Given the description of an element on the screen output the (x, y) to click on. 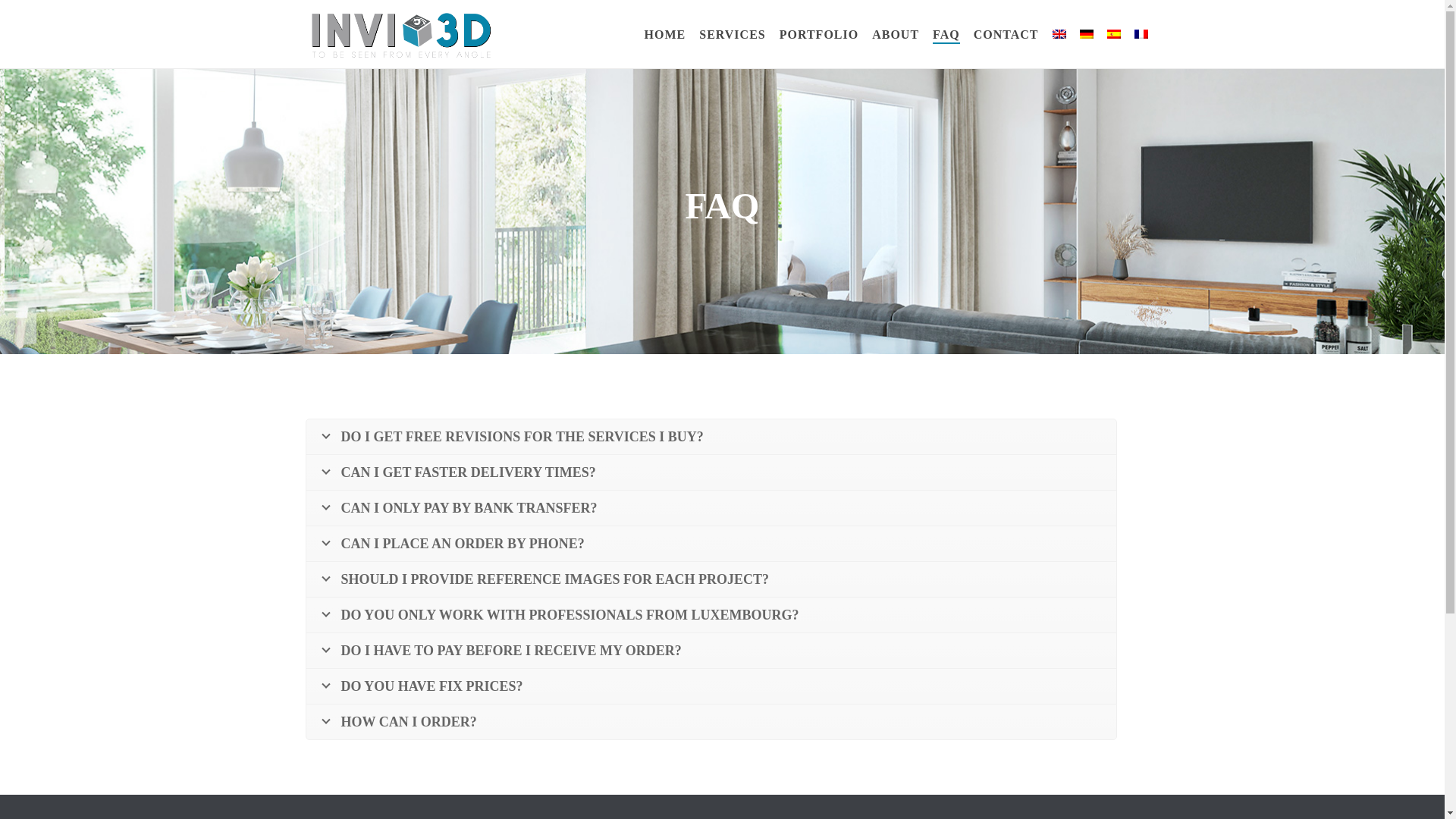
Architectural Digital Solutions (399, 34)
HOME (665, 34)
DO I HAVE TO PAY BEFORE I RECEIVE MY ORDER? (710, 650)
SERVICES (732, 34)
SERVICES (732, 34)
DO YOU ONLY WORK WITH PROFESSIONALS FROM LUXEMBOURG? (710, 614)
SHOULD I PROVIDE REFERENCE IMAGES FOR EACH PROJECT? (710, 579)
PORTFOLIO (818, 34)
CAN I PLACE AN ORDER BY PHONE? (710, 543)
FAQ (946, 34)
